Given the description of an element on the screen output the (x, y) to click on. 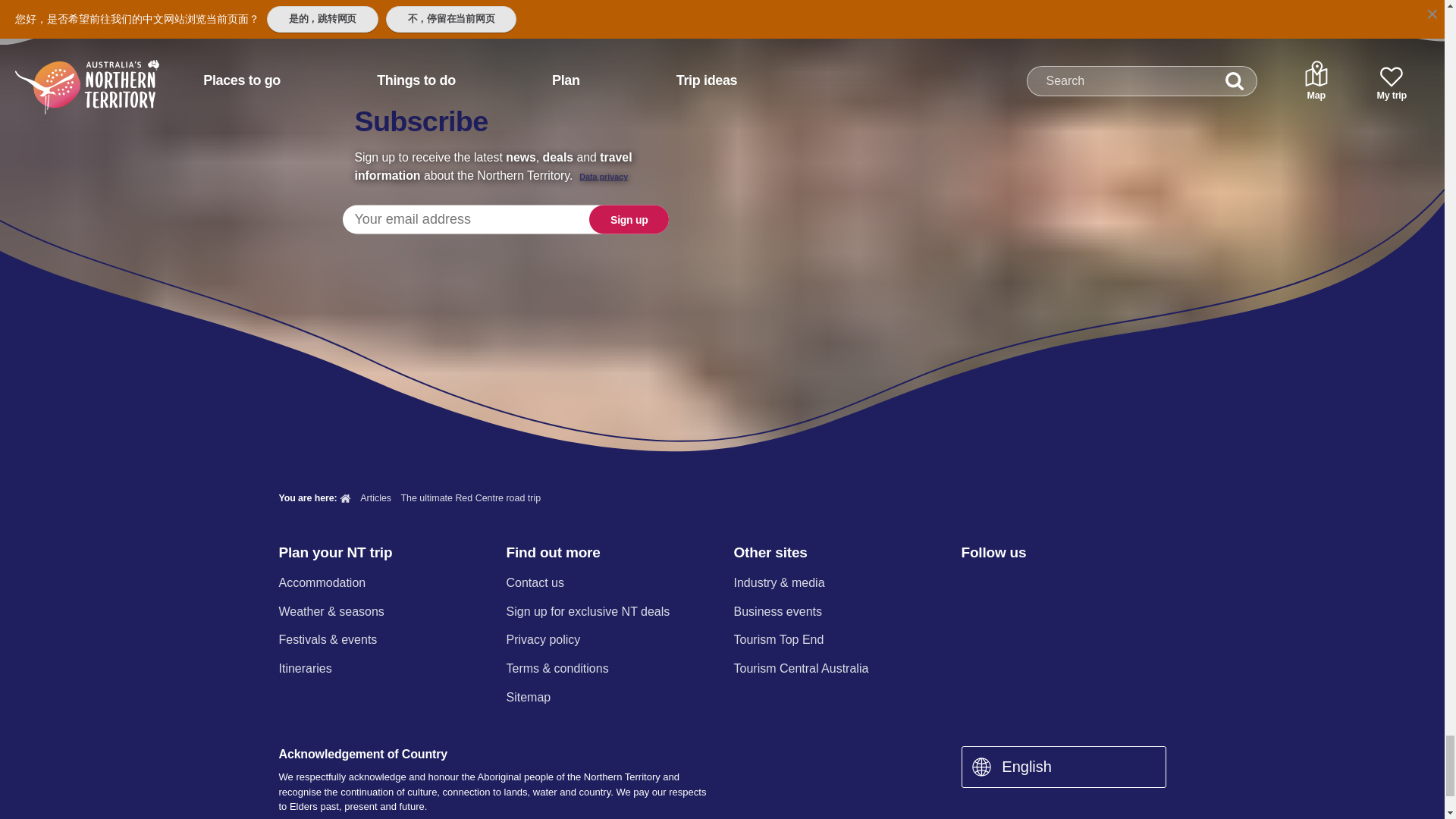
Trip Advisor (1129, 584)
Facebook (970, 584)
YouTube (1089, 584)
Instagram (1009, 584)
Twitter (1050, 584)
